Given the description of an element on the screen output the (x, y) to click on. 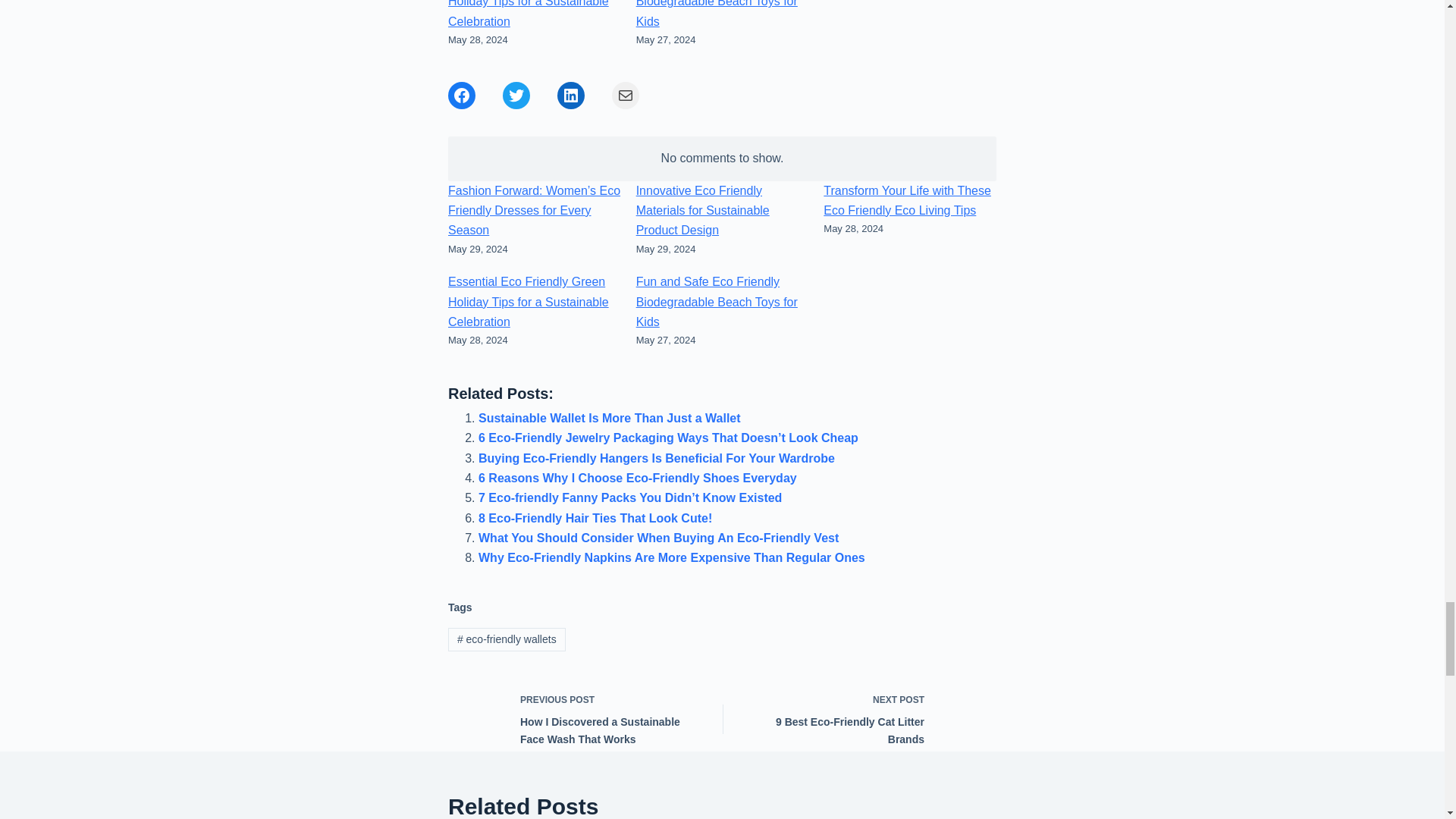
Twitter (515, 94)
6 Reasons Why I Choose Eco-Friendly Shoes Everyday (637, 477)
Fun and Safe Eco Friendly Biodegradable Beach Toys for Kids (716, 13)
What You Should Consider When Buying An Eco-Friendly Vest (658, 537)
8 Eco-Friendly Hair Ties That Look Cute! (595, 517)
Sustainable Wallet Is More Than Just a Wallet (610, 418)
Buying Eco-Friendly Hangers Is Beneficial For Your Wardrobe (656, 458)
Facebook (462, 94)
